Given the description of an element on the screen output the (x, y) to click on. 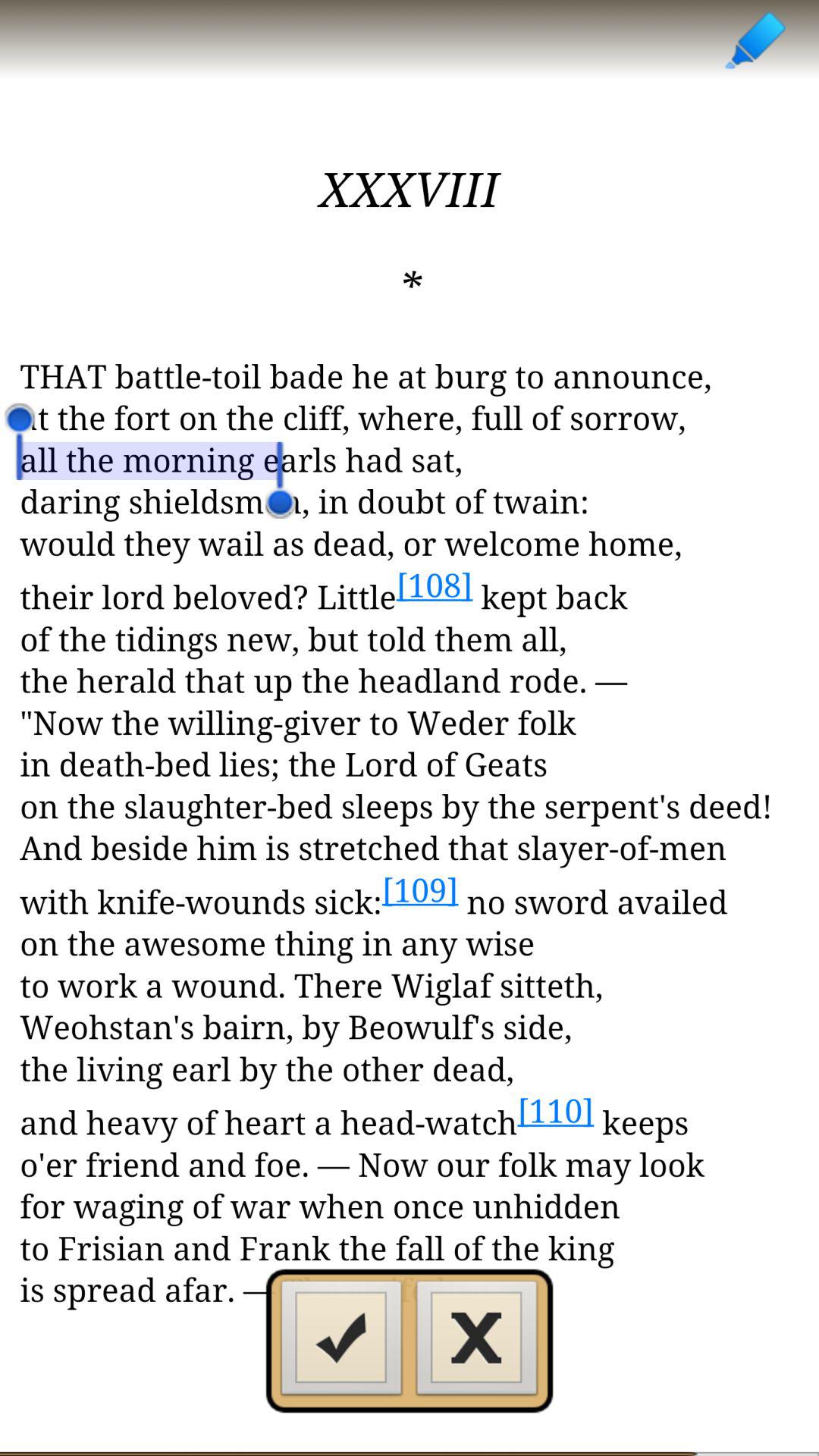
delete text (476, 1341)
